Given the description of an element on the screen output the (x, y) to click on. 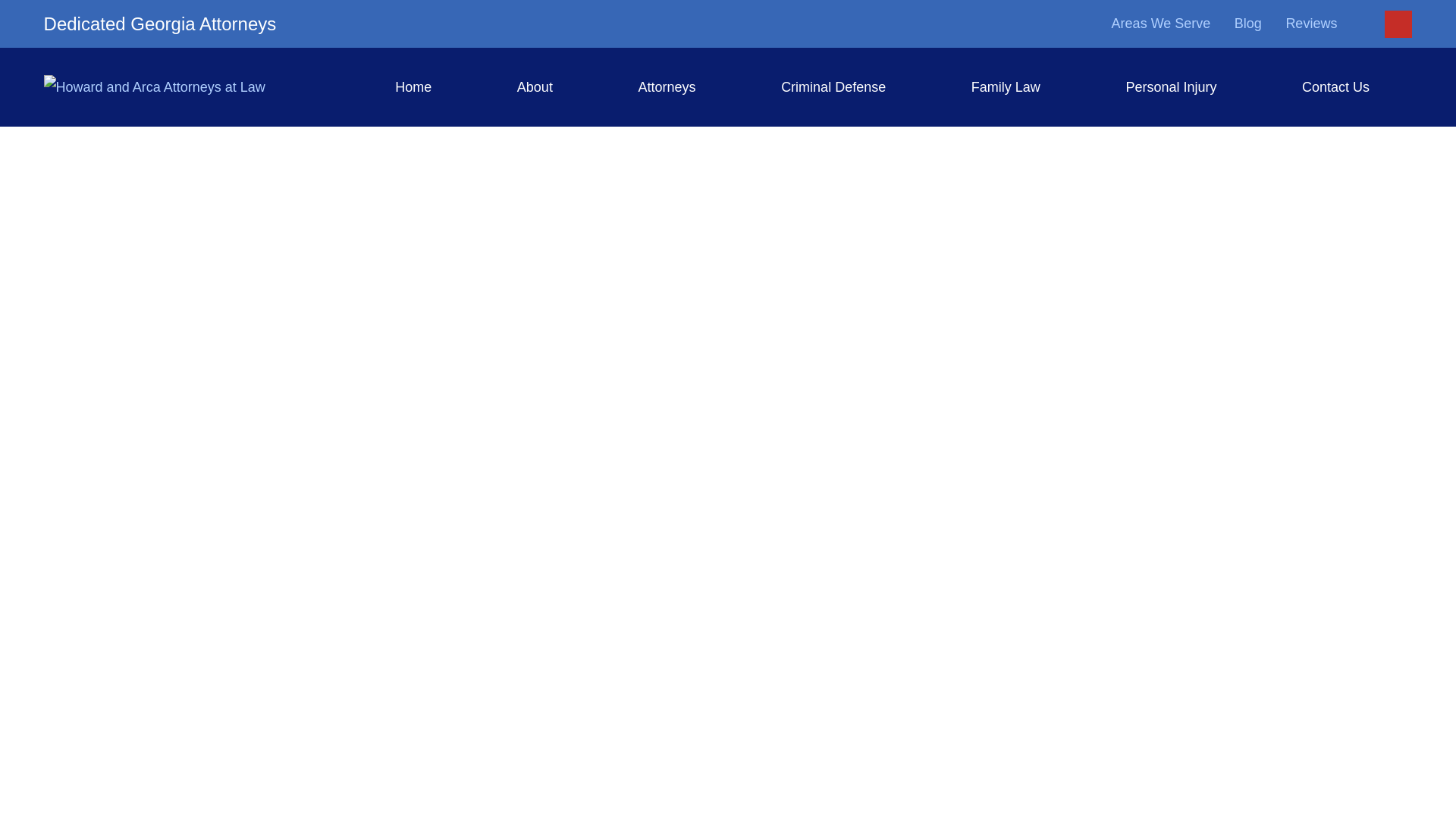
Areas We Serve (1161, 23)
Home (413, 86)
Howard and Arca Attorneys at Law (153, 87)
Search Our Site (1398, 23)
Blog (1248, 23)
Search Icon (1398, 23)
Attorneys (666, 86)
Criminal Defense (833, 86)
About (534, 86)
Reviews (1310, 23)
Family Law (1005, 86)
